Given the description of an element on the screen output the (x, y) to click on. 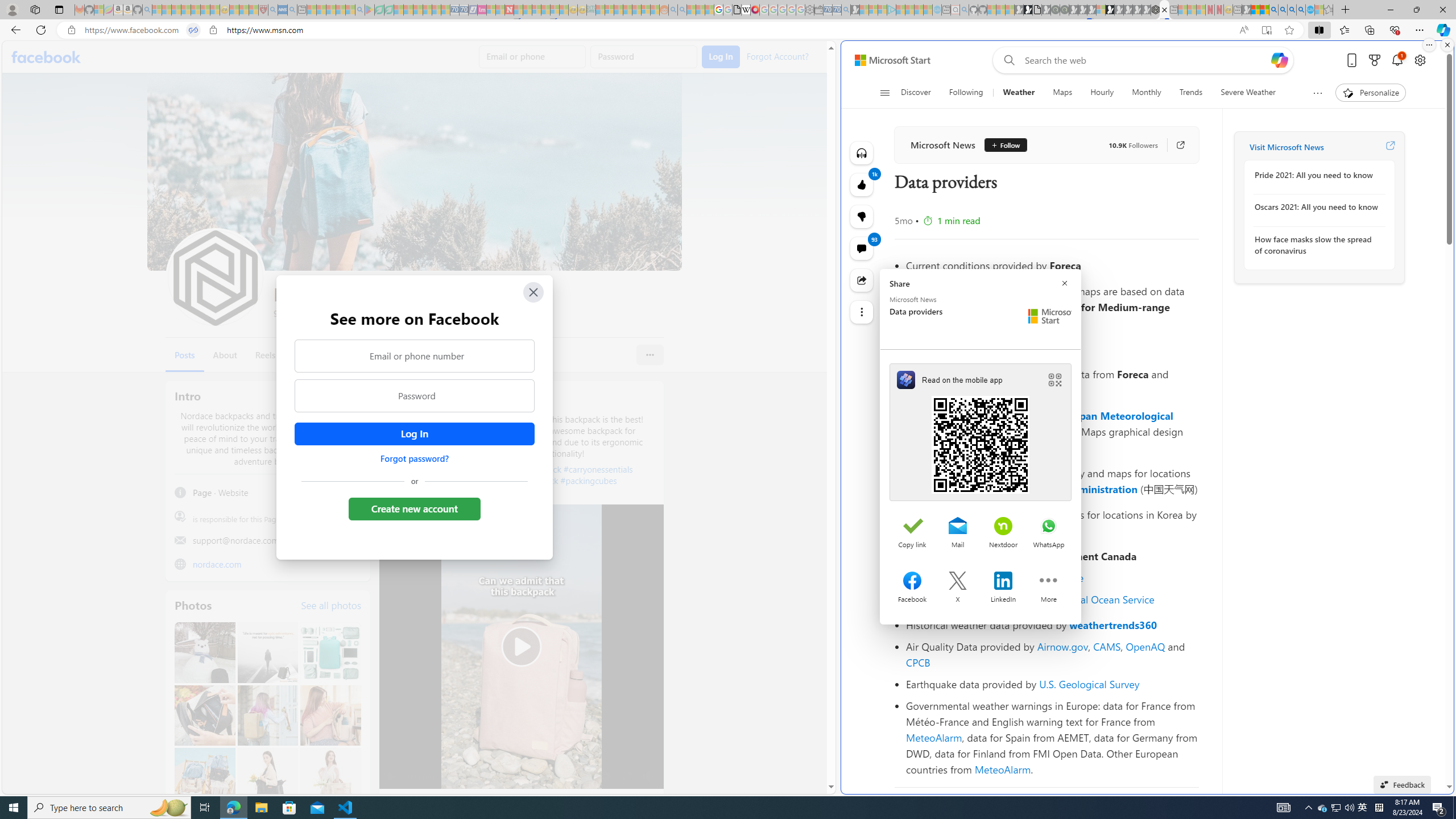
Lightning data provided by Nowcast.de (1051, 577)
Pets - MSN - Sleeping (340, 9)
Earthquake data provided by U.S. Geological Survey (1051, 684)
Close split screen. (1447, 45)
Read on the mobile app (980, 432)
More share options (1048, 581)
Hourly (1101, 92)
